Given the description of an element on the screen output the (x, y) to click on. 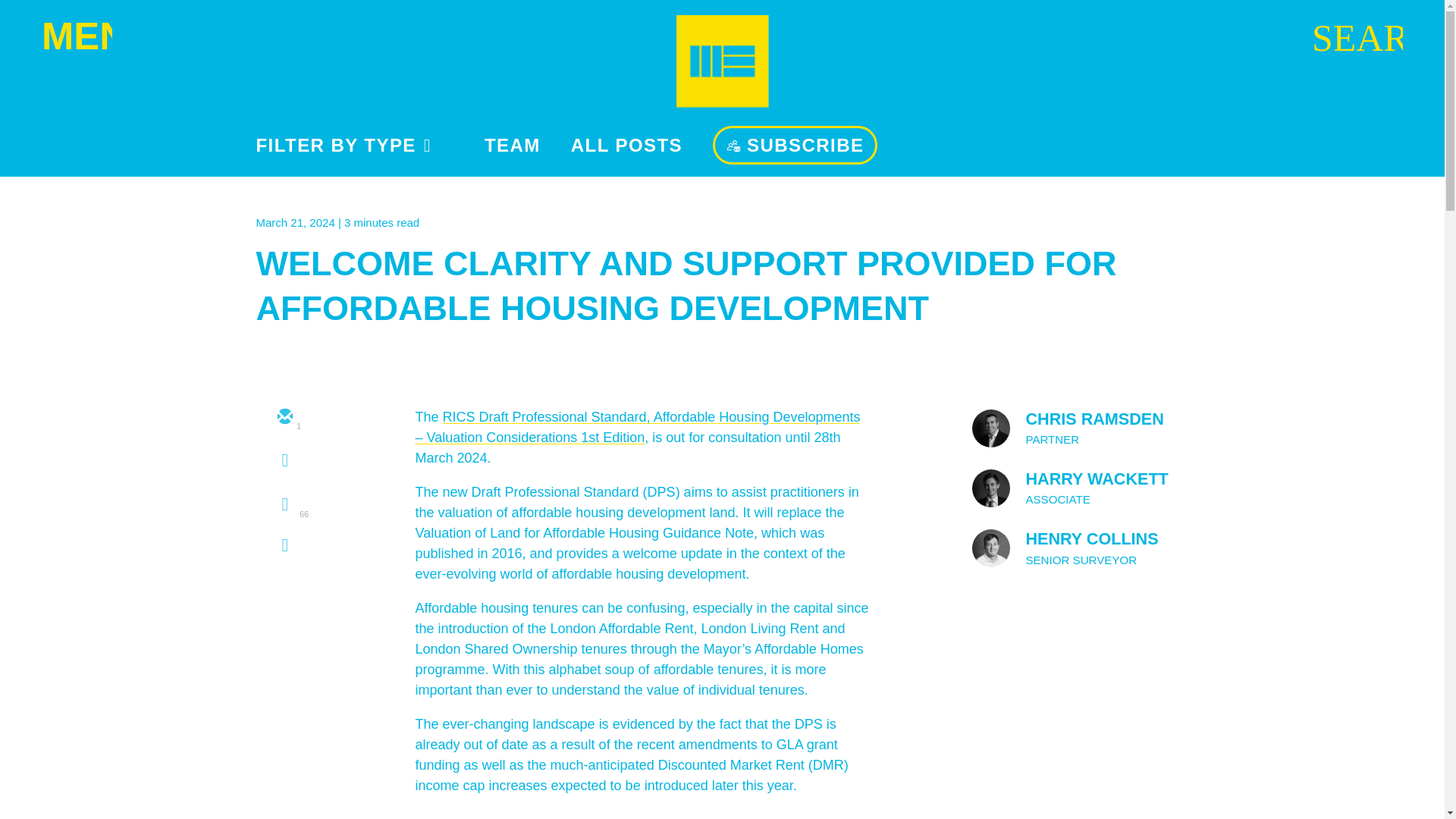
MENU (77, 37)
Home (722, 61)
ALL POSTS (626, 145)
FILTER BY TYPE (344, 145)
TEAM (512, 145)
SUBSCRIBE (795, 145)
